Given the description of an element on the screen output the (x, y) to click on. 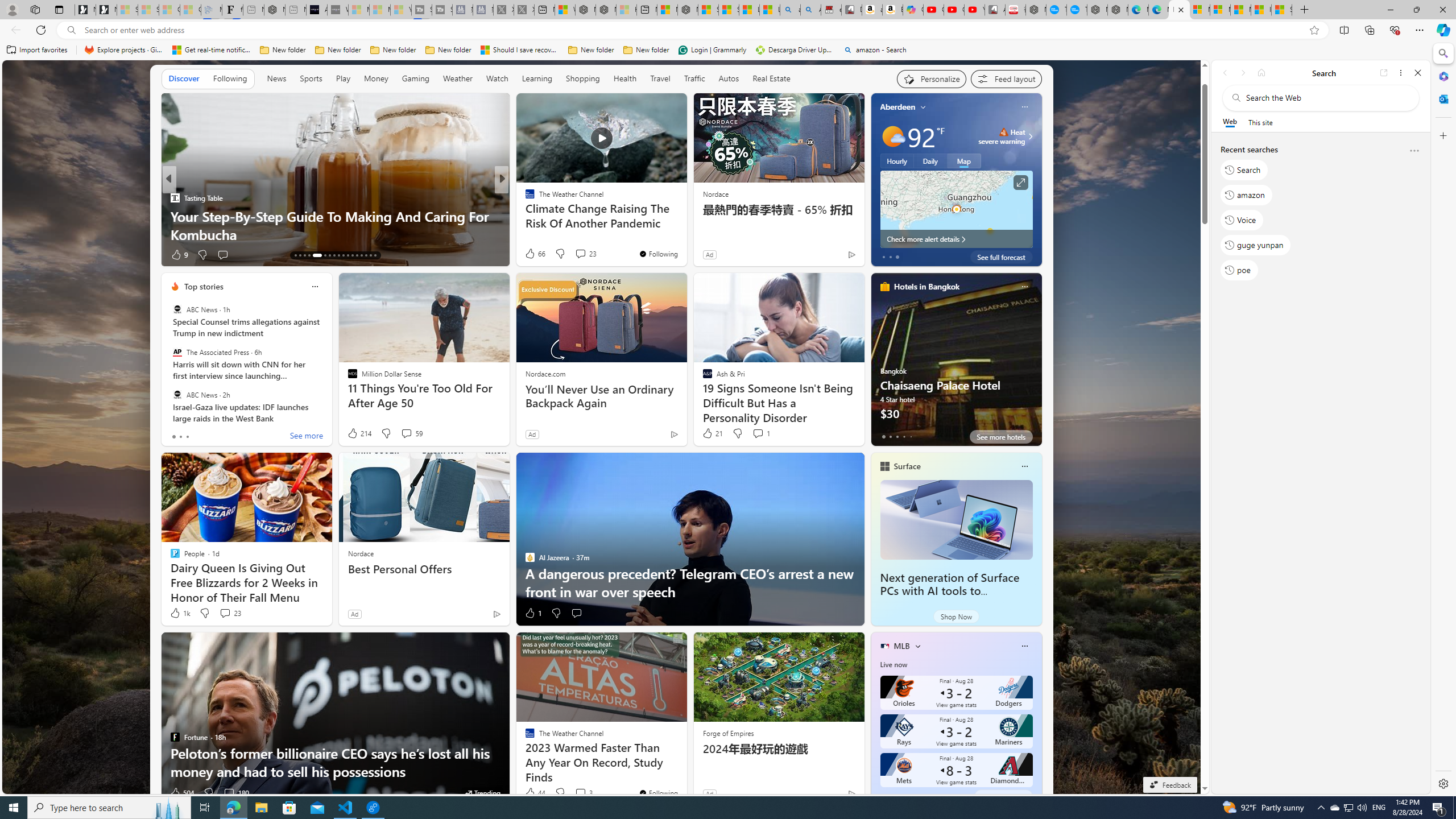
What's the best AI voice generator? - voice.ai - Sleeping (337, 9)
More interests (917, 645)
AutomationID: tab-15 (304, 255)
Login | Grammarly (712, 49)
113 Like (532, 254)
